Given the description of an element on the screen output the (x, y) to click on. 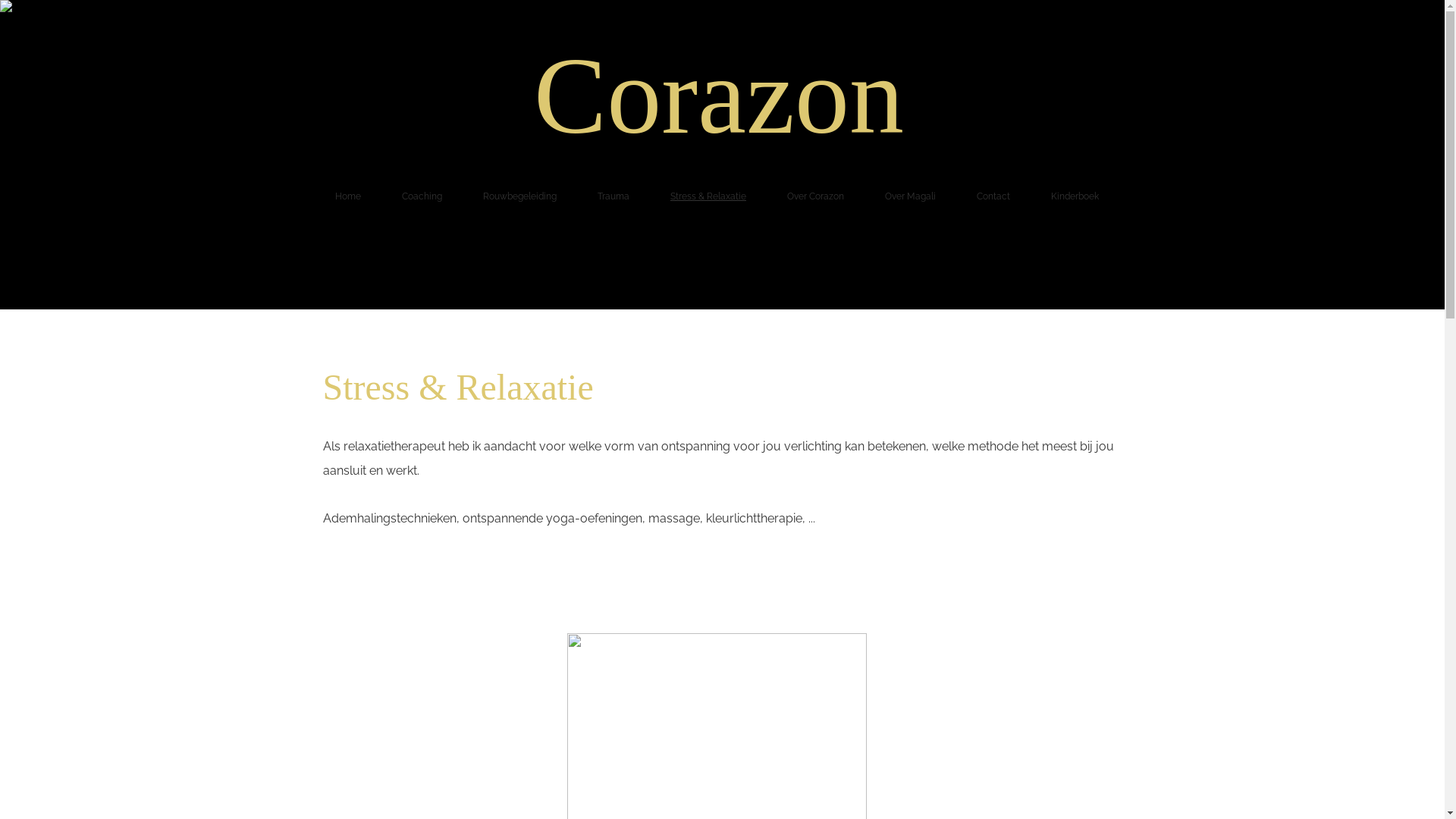
Trauma Element type: text (613, 196)
Kinderboek Element type: text (1074, 196)
Coaching Element type: text (421, 196)
Home Element type: text (348, 196)
Over Corazon Element type: text (815, 196)
Contact Element type: text (993, 196)
Rouwbegeleiding Element type: text (519, 196)
Over Magali Element type: text (910, 196)
Stress & Relaxatie Element type: text (707, 196)
